Given the description of an element on the screen output the (x, y) to click on. 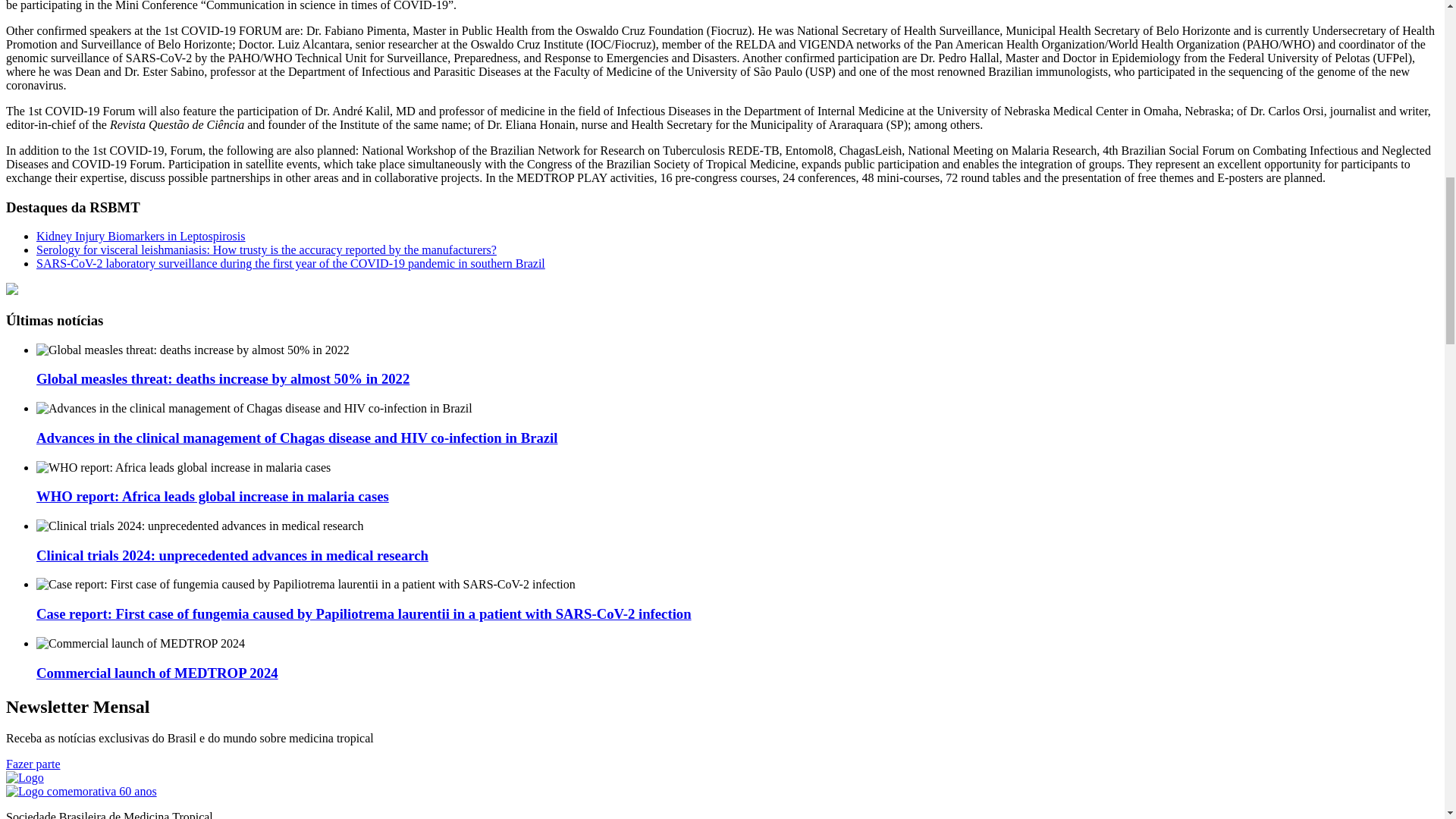
Kidney Injury Biomarkers in Leptospirosis (141, 236)
